Given the description of an element on the screen output the (x, y) to click on. 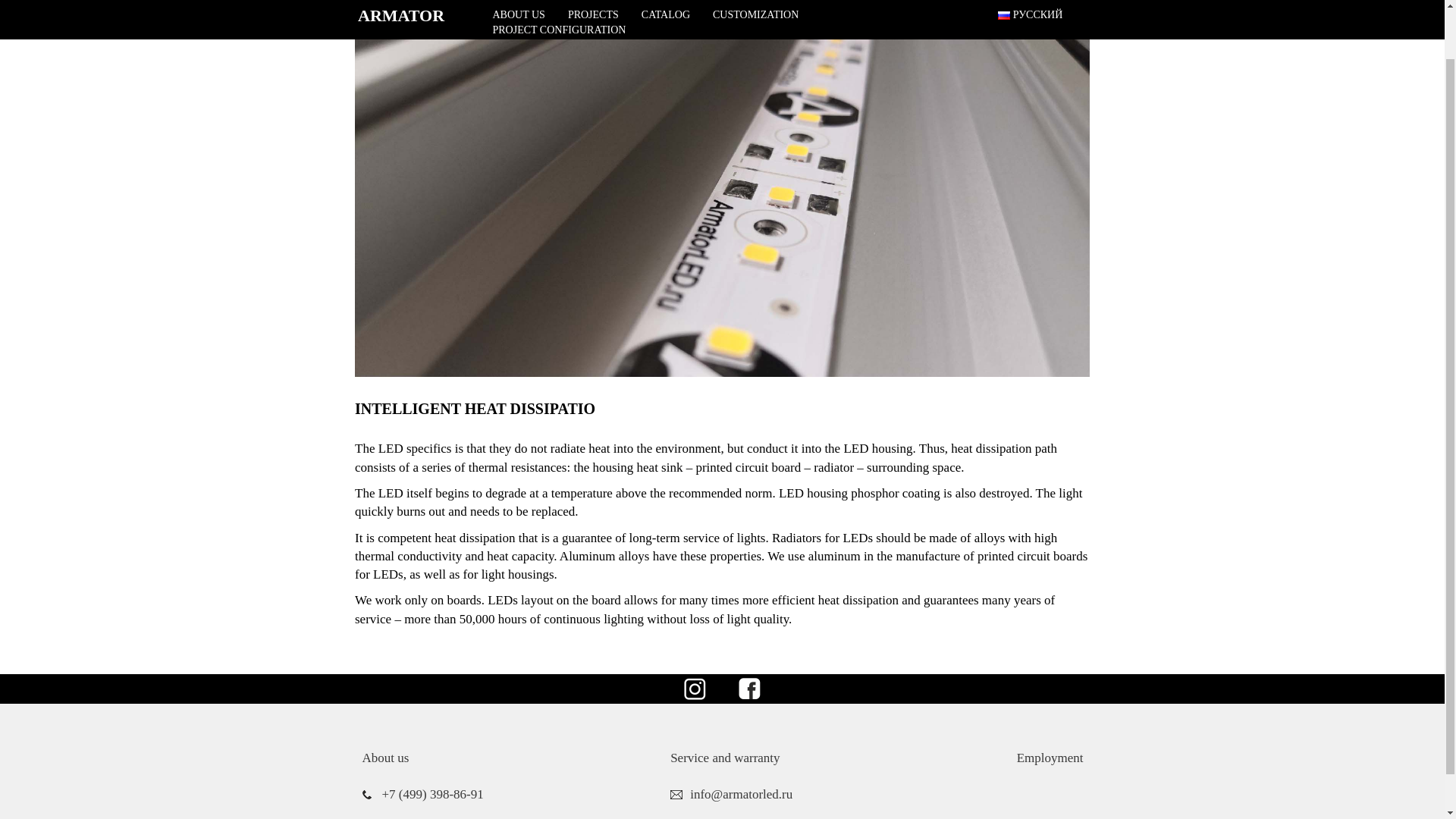
Employment (1049, 757)
facebook (749, 687)
About us (385, 757)
Service and warranty (723, 757)
